Given the description of an element on the screen output the (x, y) to click on. 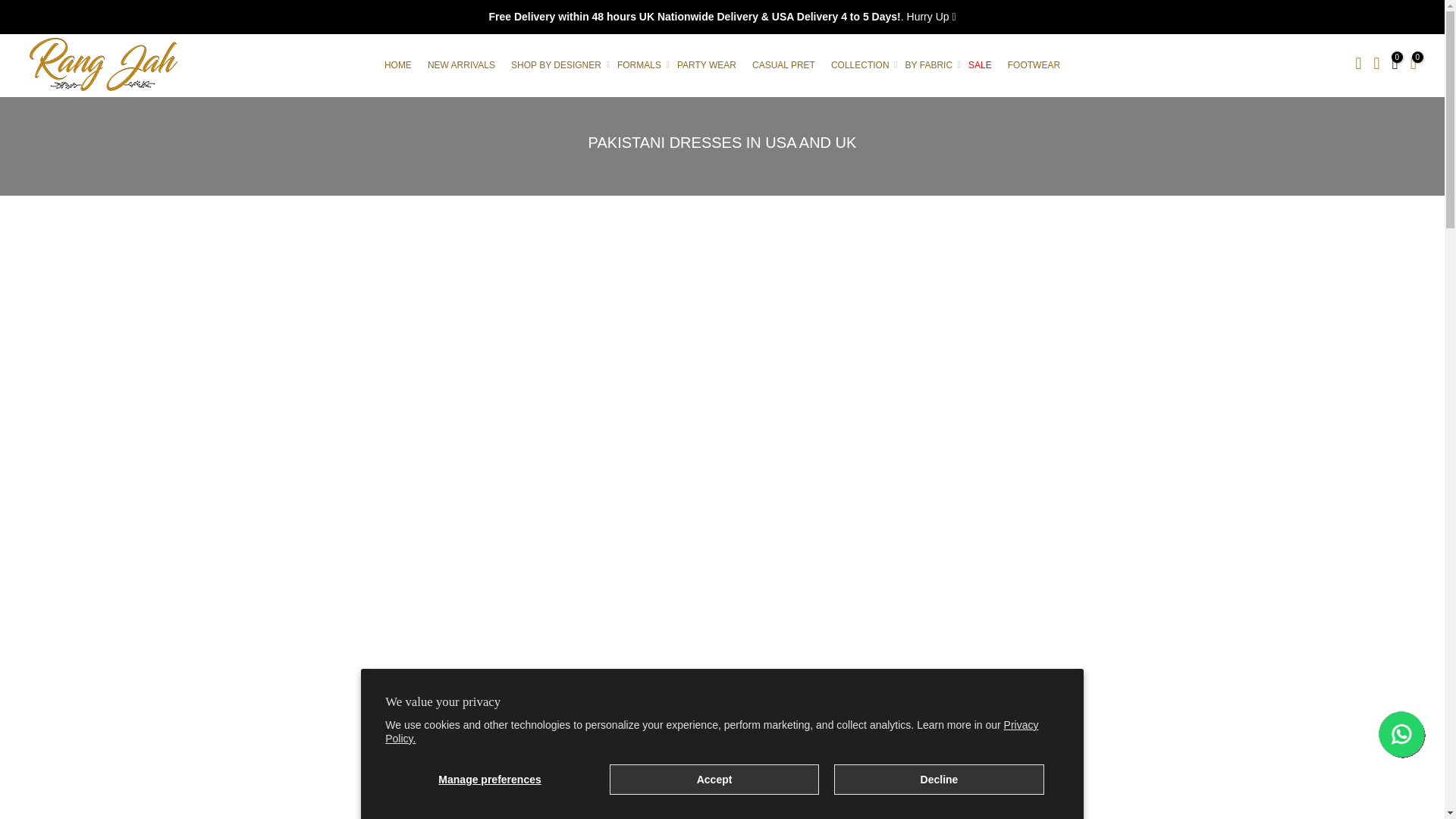
Manage preferences (489, 779)
SHOP BY DESIGNER (556, 64)
Accept (714, 779)
HOME (397, 64)
Privacy Policy. (711, 731)
NEW ARRIVALS (460, 64)
Decline (938, 779)
